Given the description of an element on the screen output the (x, y) to click on. 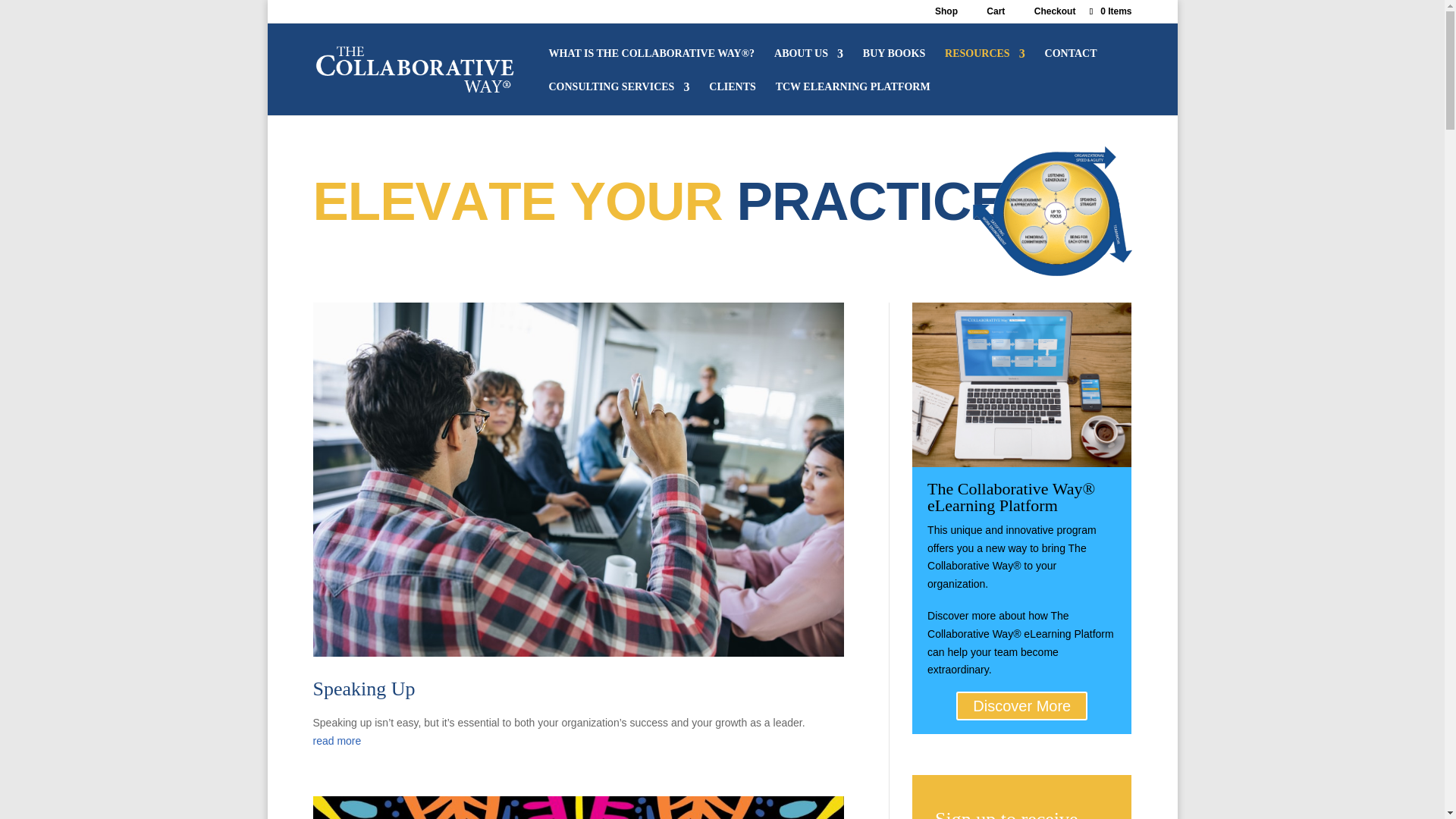
BUY BOOKS (893, 57)
ABOUT US (808, 57)
CONTACT (1071, 57)
CLIENTS (732, 90)
RESOURCES (984, 57)
Shop (946, 14)
Cart (995, 14)
TCW ELEARNING PLATFORM (853, 90)
Checkout (1054, 14)
CONSULTING SERVICES (619, 90)
0 Items (1108, 10)
